Given the description of an element on the screen output the (x, y) to click on. 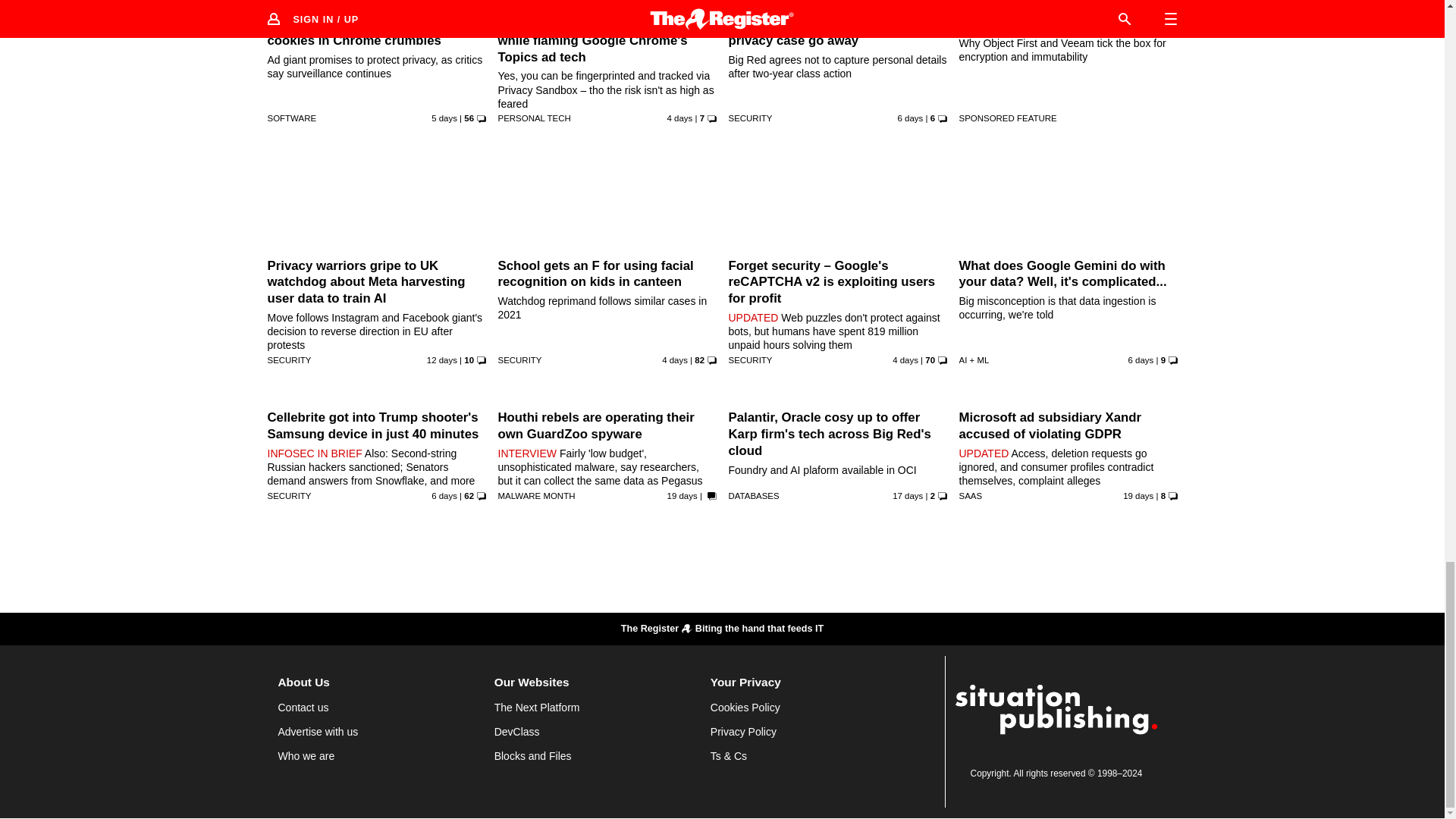
24 Jul 2024 8:32 (674, 359)
24 Jul 2024 6:33 (905, 359)
22 Jul 2024 3:44 (443, 495)
9 Jul 2024 10:56 (681, 495)
23 Jul 2024 0:3 (443, 117)
22 Jul 2024 19:15 (1141, 359)
22 Jul 2024 13:45 (910, 117)
24 Jul 2024 20:44 (679, 117)
16 Jul 2024 11:25 (441, 359)
